Given the description of an element on the screen output the (x, y) to click on. 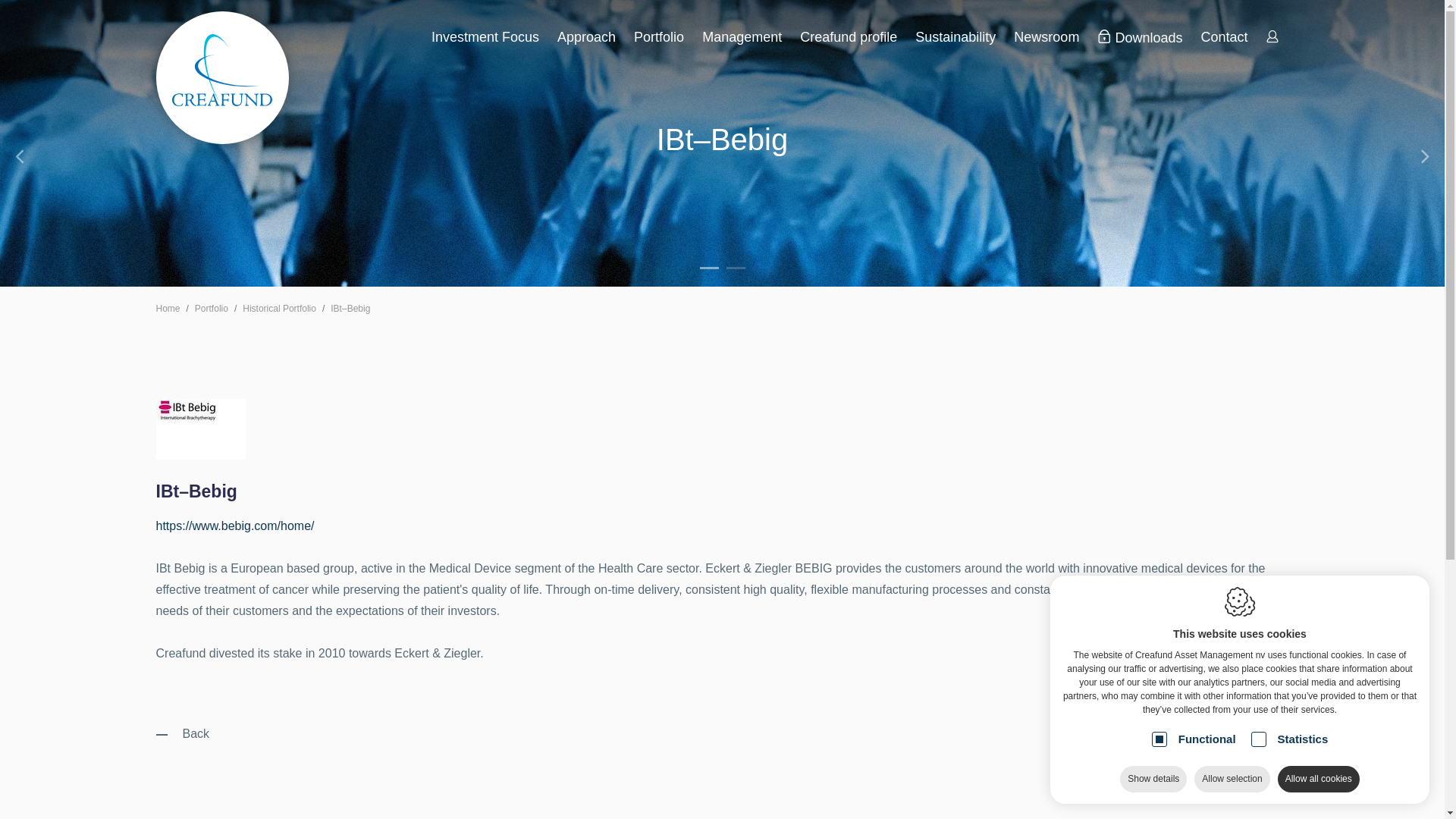
Back Element type: text (183, 733)
Approach Element type: text (586, 37)
Historical Portfolio Element type: text (279, 308)
Home Element type: text (168, 308)
Allow all cookies Element type: text (1318, 778)
1 Element type: text (708, 267)
Allow selection Element type: text (1231, 778)
Contact Element type: text (1223, 37)
Downloads Element type: text (1139, 37)
Investment Focus Element type: text (484, 37)
https://www.bebig.com/home/ Element type: text (235, 525)
Newsroom Element type: text (1046, 37)
2 Element type: text (735, 267)
